Given the description of an element on the screen output the (x, y) to click on. 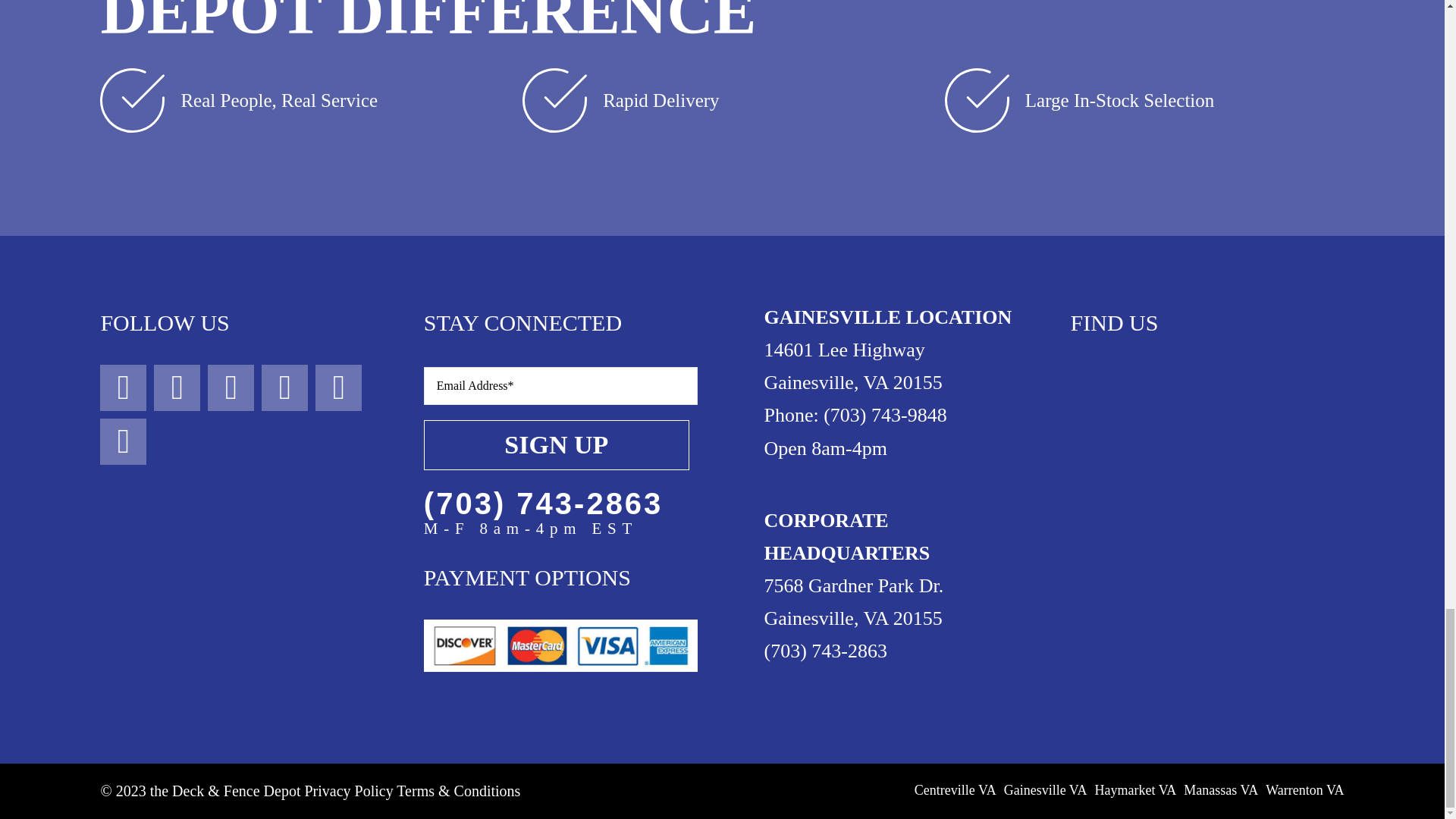
Tiktok (284, 387)
LinkedIn (123, 441)
Facebook (123, 387)
SIGN UP (560, 424)
4CCImage (560, 645)
Instagram (177, 387)
Twitter (230, 387)
Pinterest (338, 387)
